Given the description of an element on the screen output the (x, y) to click on. 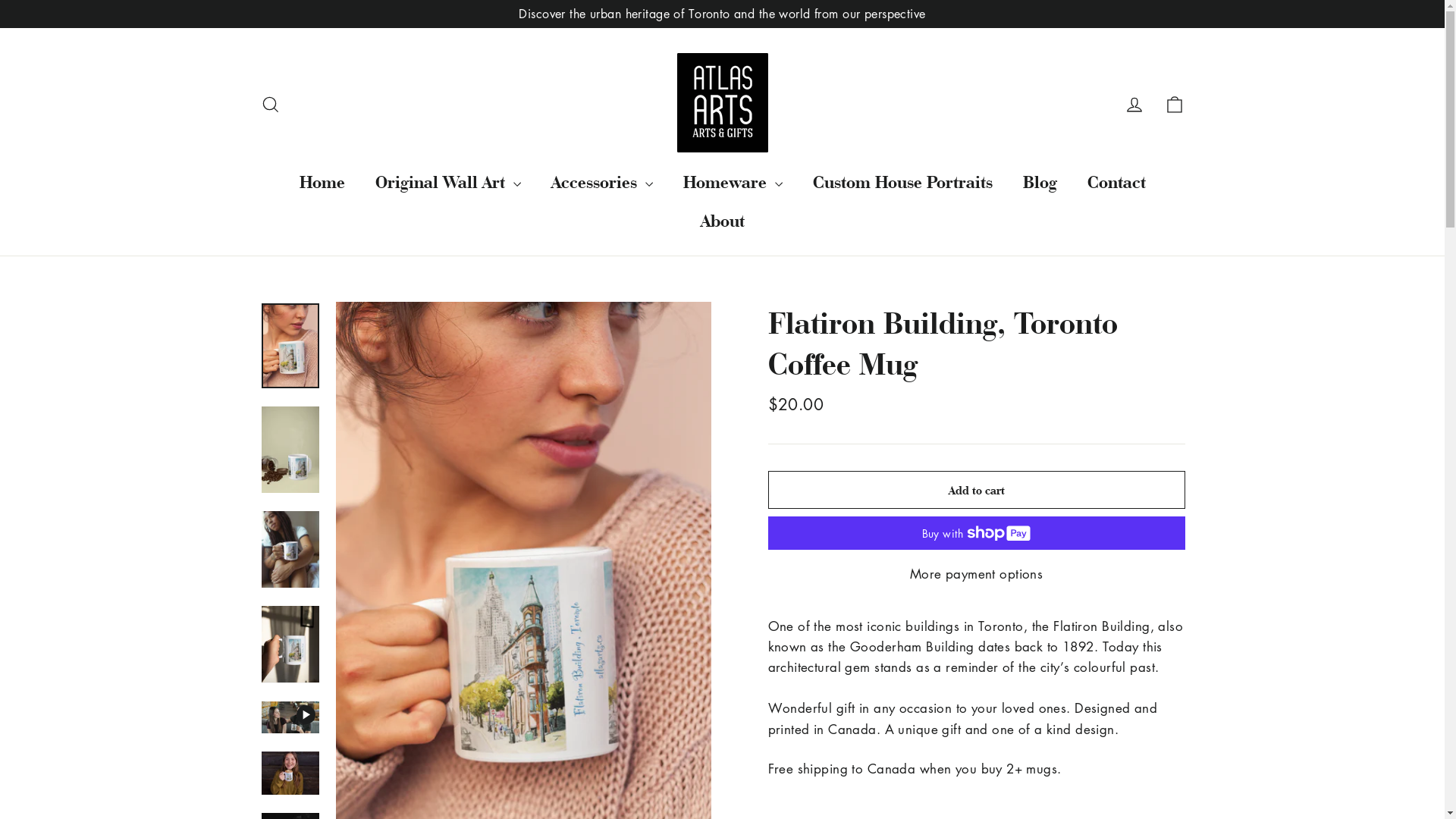
Cart Element type: text (1173, 102)
Accessories Element type: text (601, 181)
Original Wall Art Element type: text (447, 181)
Search Element type: text (269, 102)
Homeware Element type: text (732, 181)
Custom House Portraits Element type: text (902, 181)
Home Element type: text (321, 181)
Skip to content Element type: text (0, 0)
Add to cart Element type: text (975, 489)
About Element type: text (722, 219)
Contact Element type: text (1116, 181)
Blog Element type: text (1039, 181)
Log in Element type: text (1134, 102)
More payment options Element type: text (975, 573)
